Given the description of an element on the screen output the (x, y) to click on. 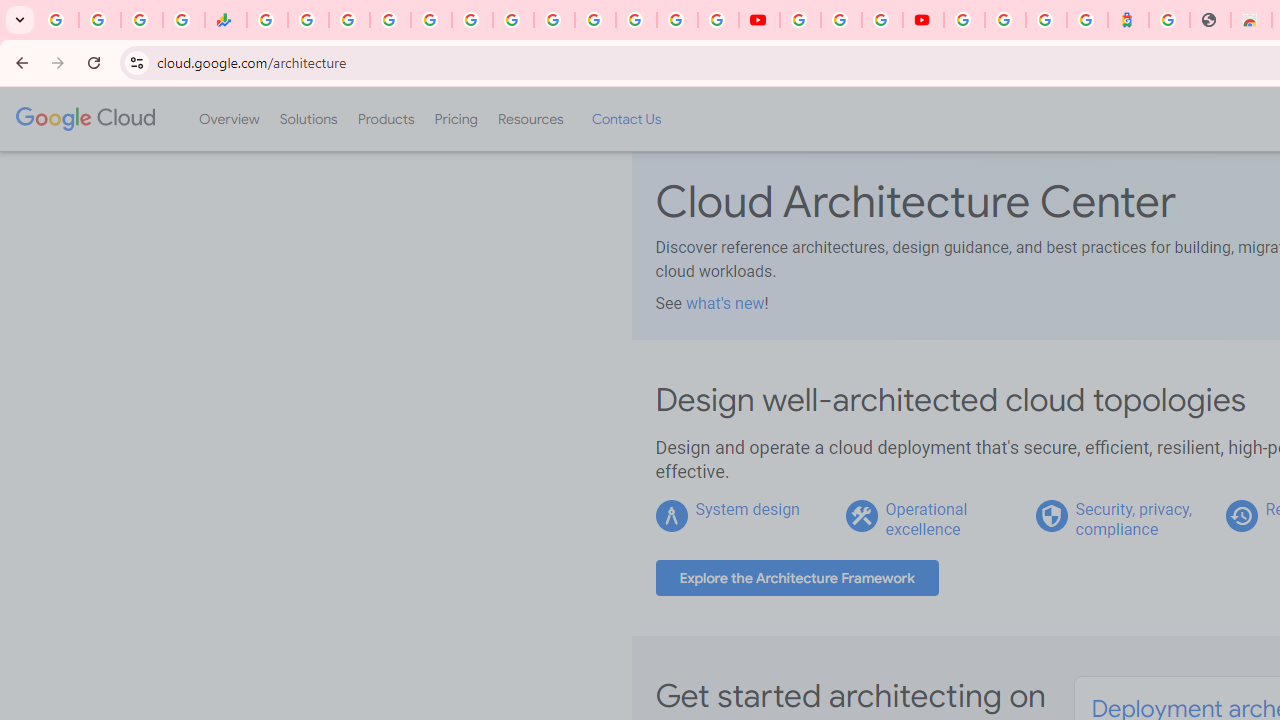
System design (747, 509)
Sign in - Google Accounts (964, 20)
YouTube (799, 20)
Google Cloud (84, 118)
Resources (530, 119)
Privacy Checkup (717, 20)
Atour Hotel - Google hotels (1128, 20)
Google Account Help (840, 20)
Sign in - Google Accounts (594, 20)
